Given the description of an element on the screen output the (x, y) to click on. 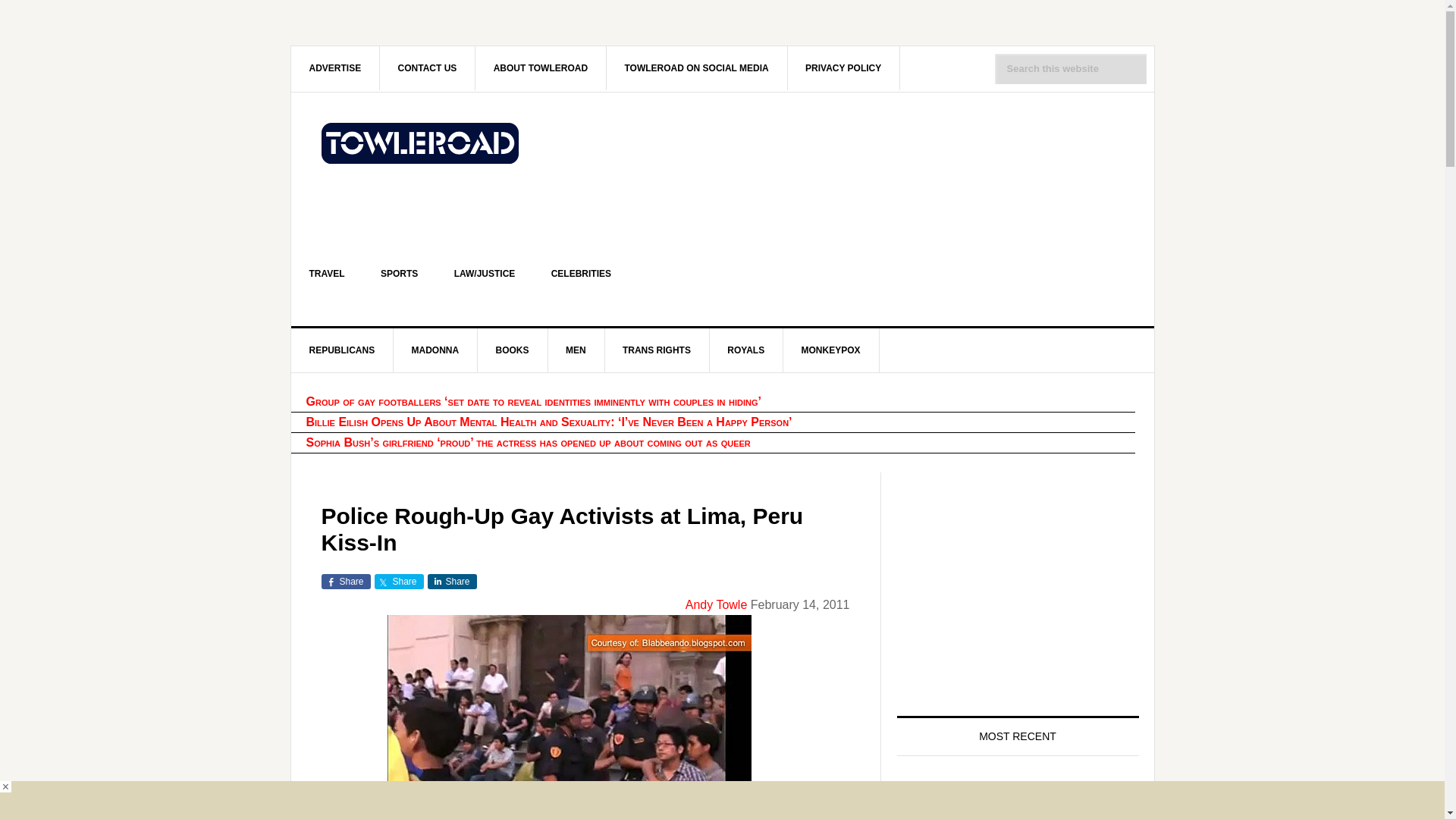
CONTACT US (428, 67)
PRIVACY POLICY (843, 67)
close (5, 786)
BOOKS (512, 349)
CELEBRITIES (580, 273)
Peru (569, 716)
TOWLEROAD GAY NEWS (419, 156)
Andy Towle (716, 603)
Share (346, 580)
REPUBLICANS (342, 349)
TRAVEL (326, 273)
ROYALS (746, 349)
TRANS RIGHTS (657, 349)
TOWLEROAD ON SOCIAL MEDIA (696, 67)
